Given the description of an element on the screen output the (x, y) to click on. 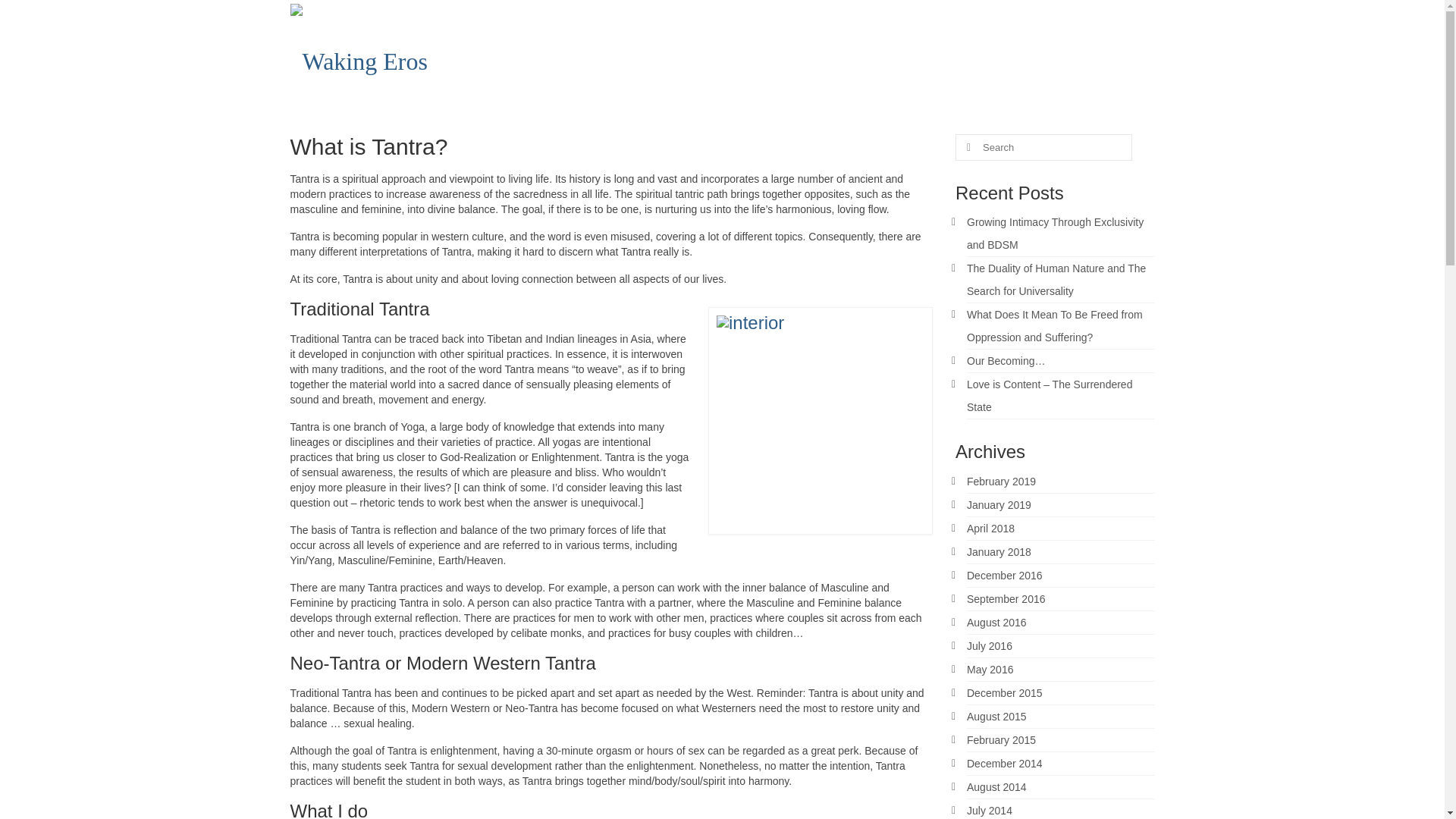
April 2018 (990, 528)
July 2014 (988, 810)
August 2014 (996, 787)
July 2016 (988, 645)
February 2019 (1000, 481)
The Invitation (906, 57)
August 2016 (996, 622)
What Does It Mean To Be Freed from Oppression and Suffering? (1054, 325)
The Duality of Human Nature and The Search for Universality (1055, 279)
January 2018 (998, 551)
